Given the description of an element on the screen output the (x, y) to click on. 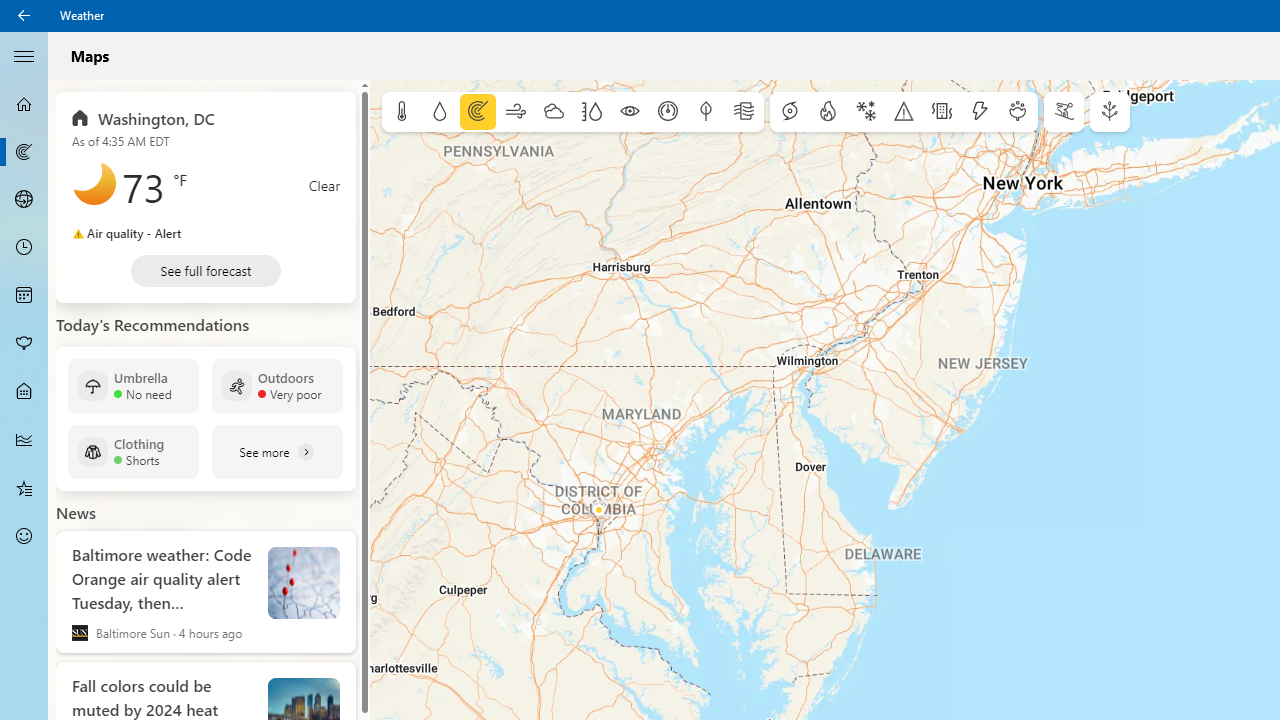
Life - Not Selected (24, 391)
Historical Weather - Not Selected (24, 439)
Favorites - Not Selected (24, 487)
Collapse Navigation (24, 55)
Hourly Forecast - Not Selected (24, 247)
Monthly Forecast - Not Selected (24, 295)
Life - Not Selected (24, 391)
Forecast - Not Selected (24, 103)
Send Feedback - Not Selected (24, 535)
Pollen - Not Selected (24, 343)
Maps - Not Selected (24, 151)
Favorites - Not Selected (24, 487)
Hourly Forecast - Not Selected (24, 247)
Monthly Forecast - Not Selected (24, 295)
